Given the description of an element on the screen output the (x, y) to click on. 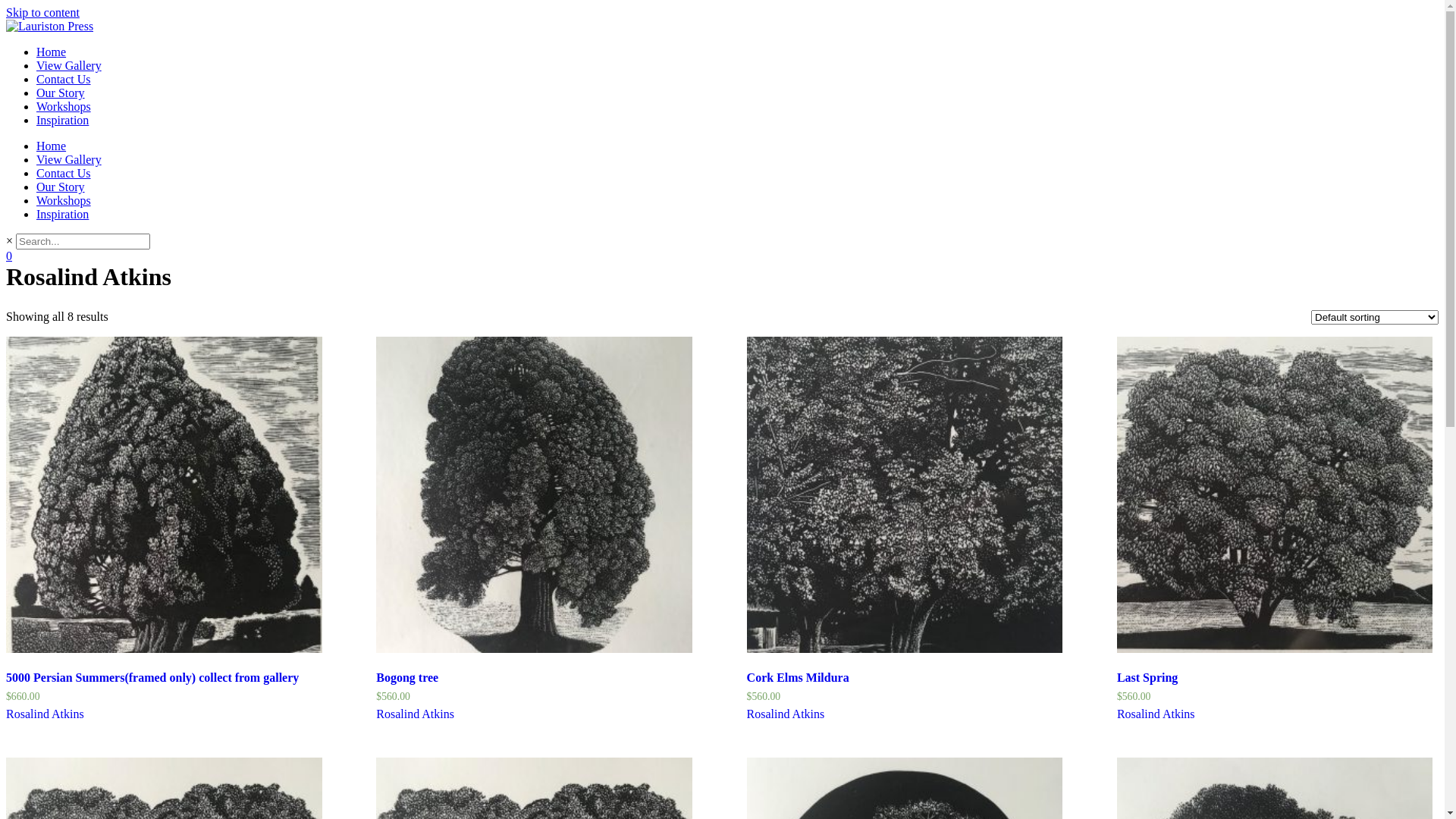
Contact Us Element type: text (63, 78)
View Gallery Element type: text (68, 159)
Skip to content Element type: text (42, 12)
Inspiration Element type: text (62, 213)
Our Story Element type: text (60, 92)
Workshops Element type: text (63, 106)
Home Element type: text (50, 51)
Last Spring
$560.00
Rosalind Atkins Element type: text (1275, 528)
Workshops Element type: text (63, 200)
Cork Elms Mildura
$560.00
Rosalind Atkins Element type: text (904, 528)
Home Element type: text (50, 145)
Bogong tree
$560.00
Rosalind Atkins Element type: text (534, 528)
Our Story Element type: text (60, 186)
View Gallery Element type: text (68, 65)
Inspiration Element type: text (62, 119)
Contact Us Element type: text (63, 172)
0 Element type: text (9, 255)
